Given the description of an element on the screen output the (x, y) to click on. 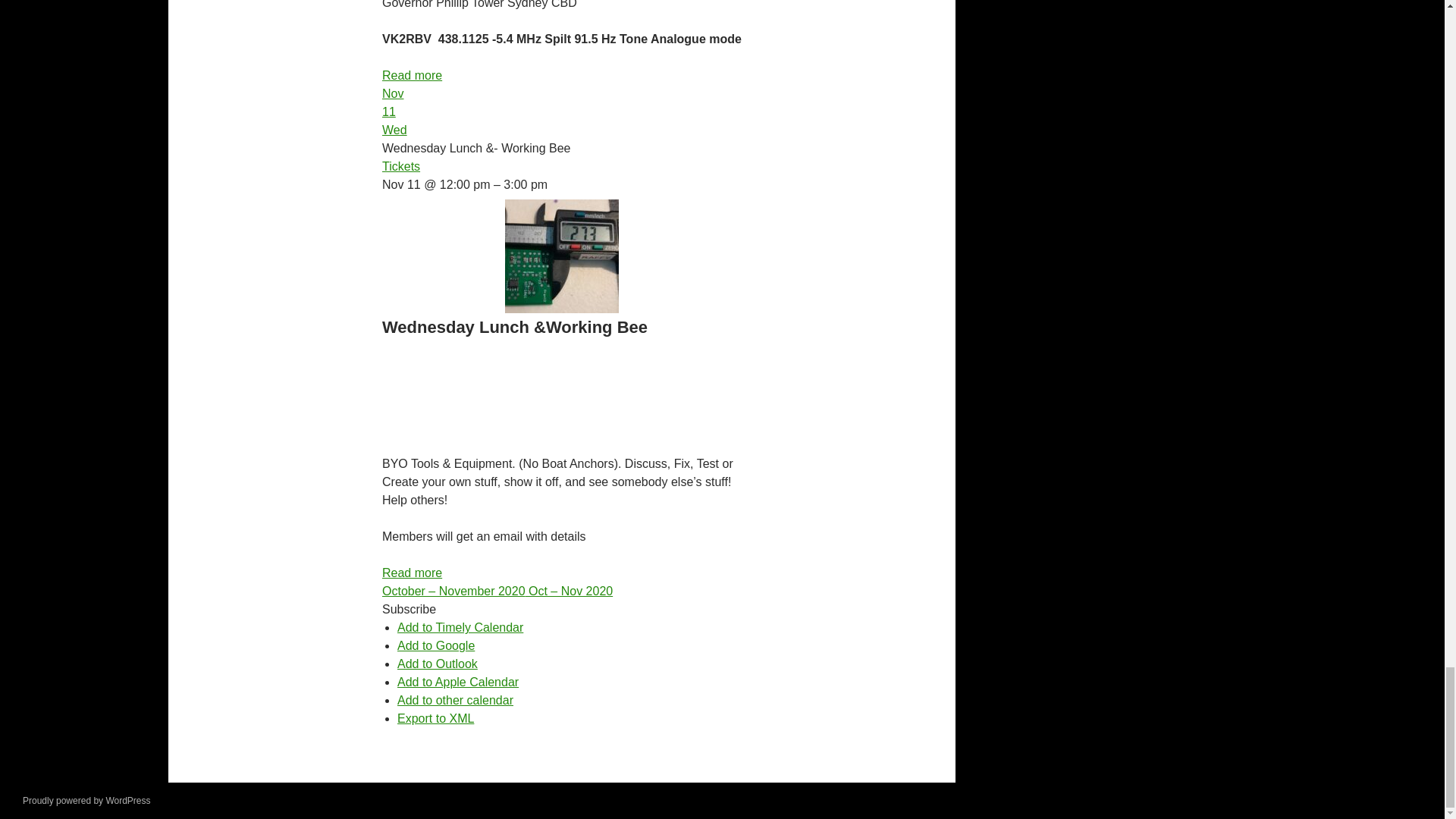
Choose a date using calendar (496, 590)
Subscribe to this calendar in another plain-text calendar (455, 699)
Subscribe to this calendar in MS Outlook (437, 663)
Subscribe to this calendar in your Google Calendar (435, 645)
